Given the description of an element on the screen output the (x, y) to click on. 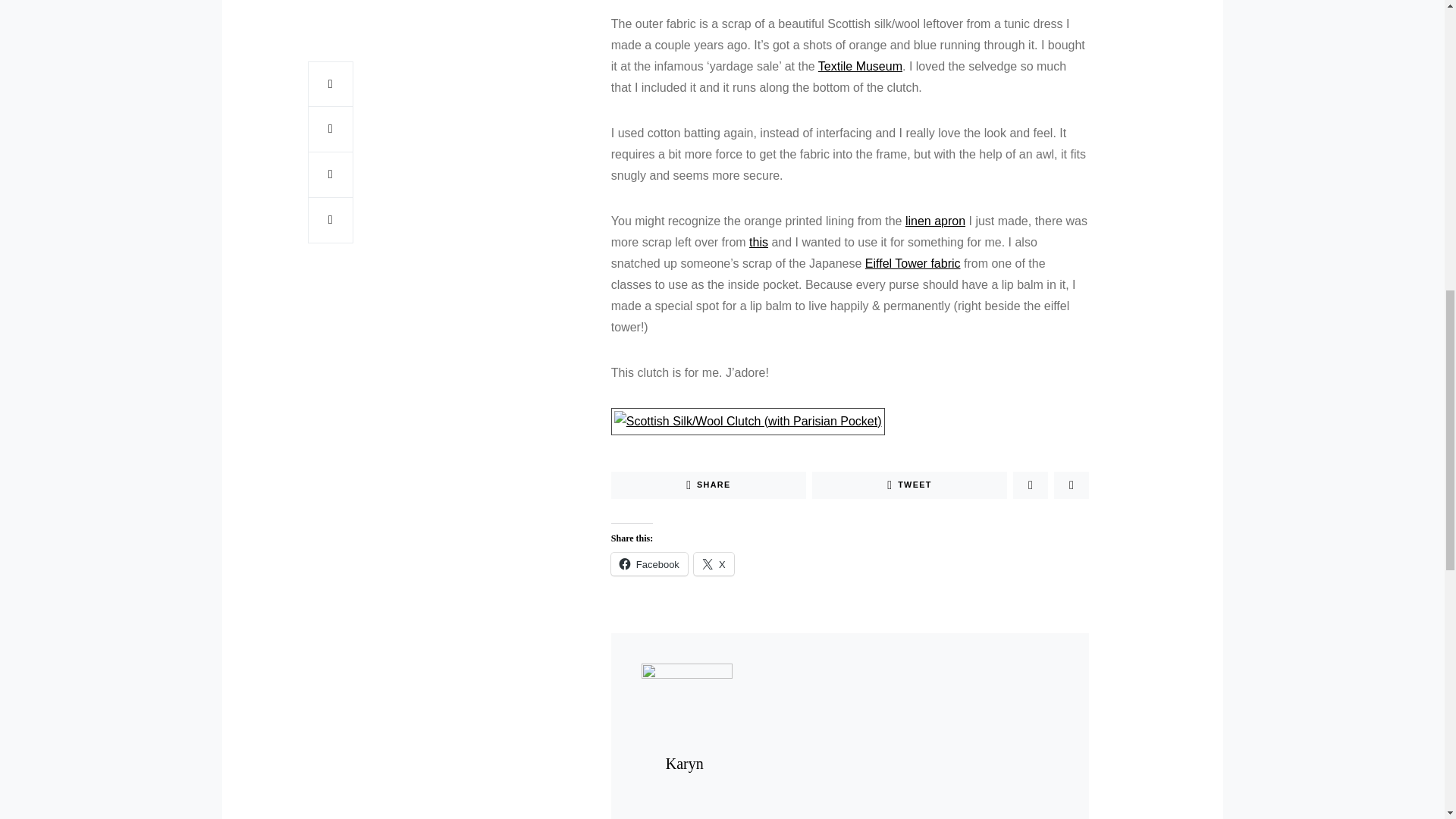
Eiffel Tower fabric (912, 262)
Click to share on Facebook (649, 563)
linen apron (935, 219)
TWEET (909, 484)
SHARE (708, 484)
this (758, 241)
Textile Museum (860, 65)
Click to share on X (713, 563)
